Given the description of an element on the screen output the (x, y) to click on. 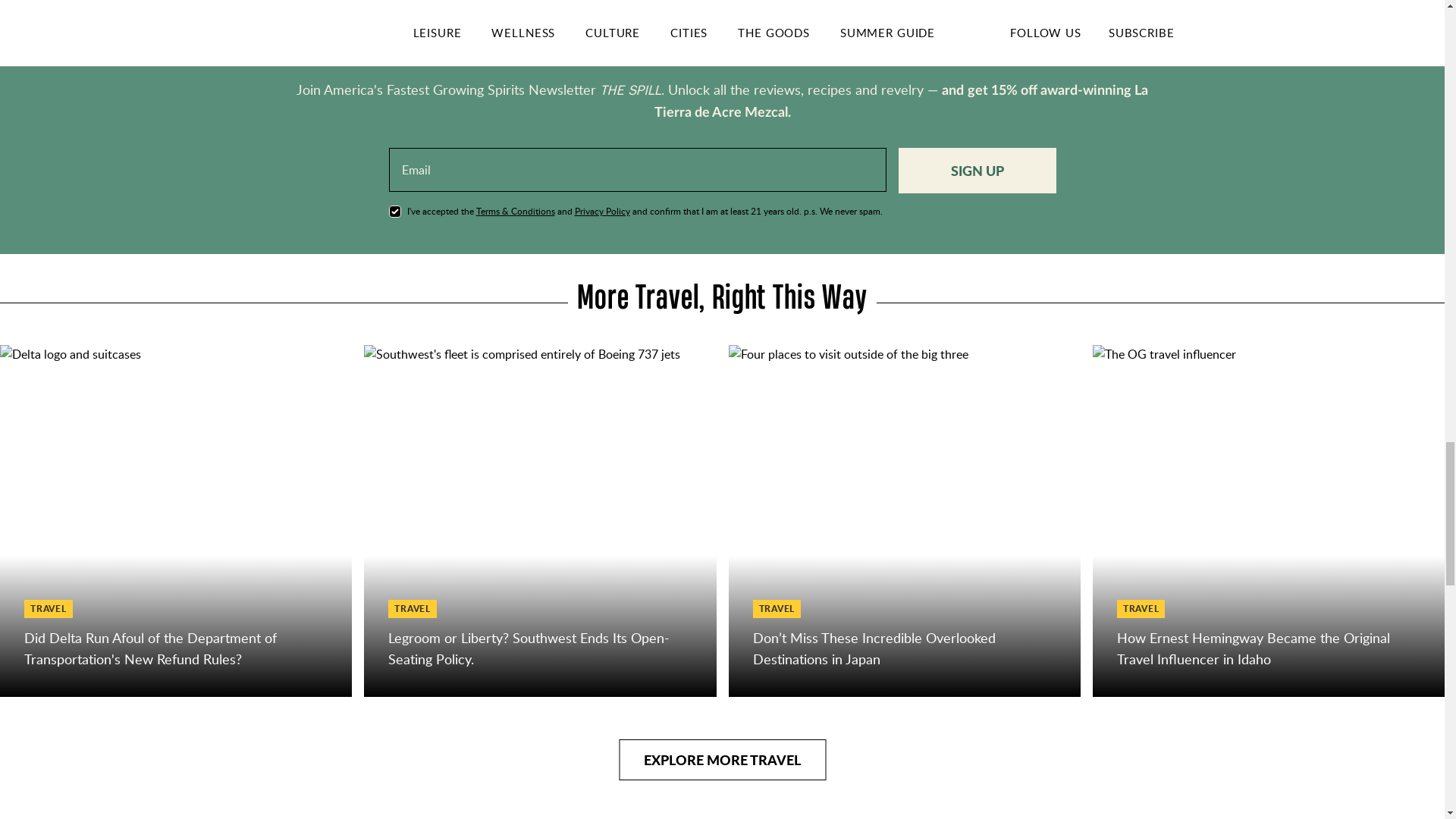
on (394, 210)
